Given the description of an element on the screen output the (x, y) to click on. 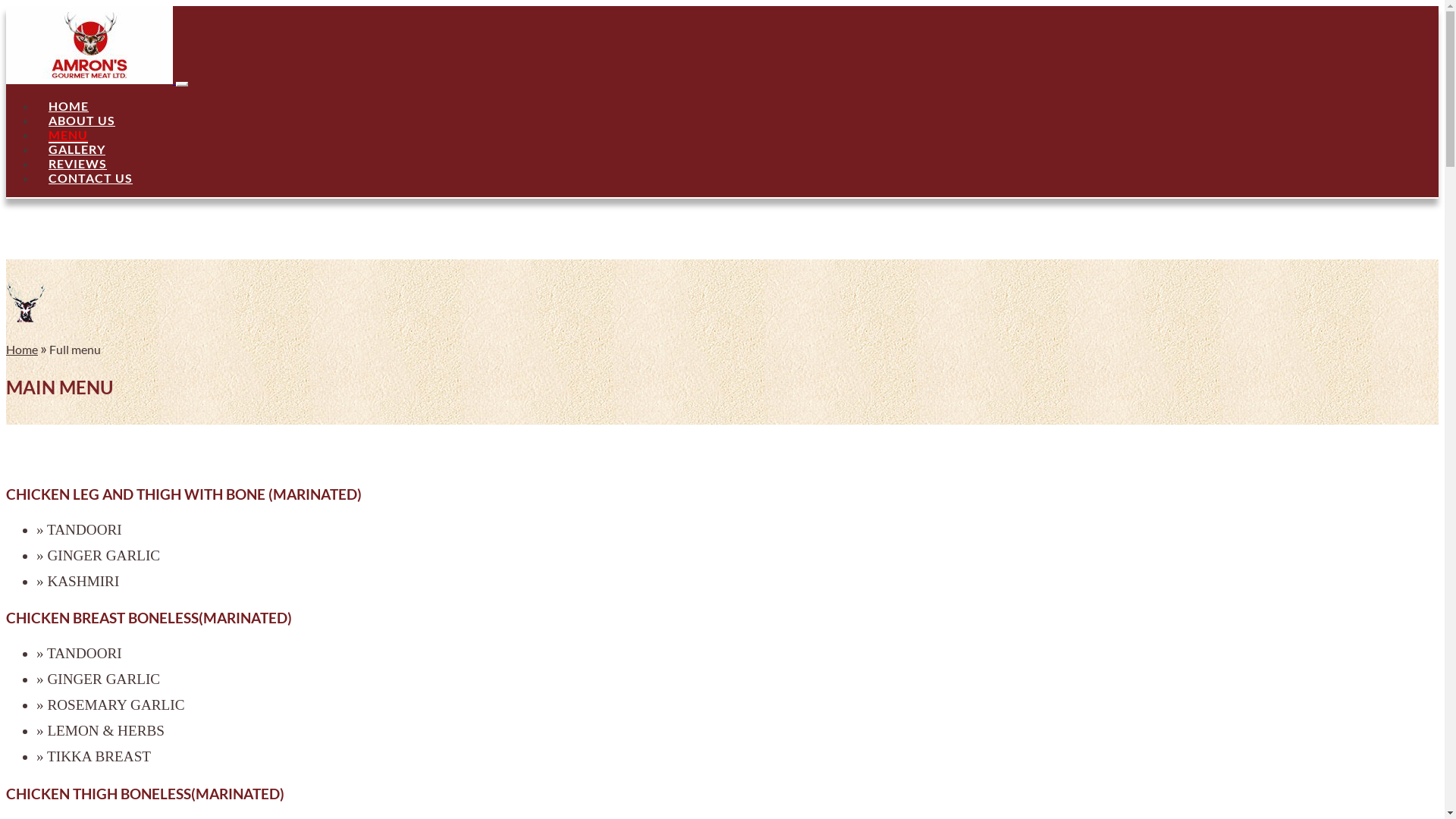
Home Element type: text (21, 349)
CONTACT US Element type: text (90, 177)
REVIEWS Element type: text (77, 163)
ABOUT US Element type: text (81, 119)
GALLERY Element type: text (76, 148)
HOME Element type: text (68, 105)
MENU Element type: text (67, 135)
